Given the description of an element on the screen output the (x, y) to click on. 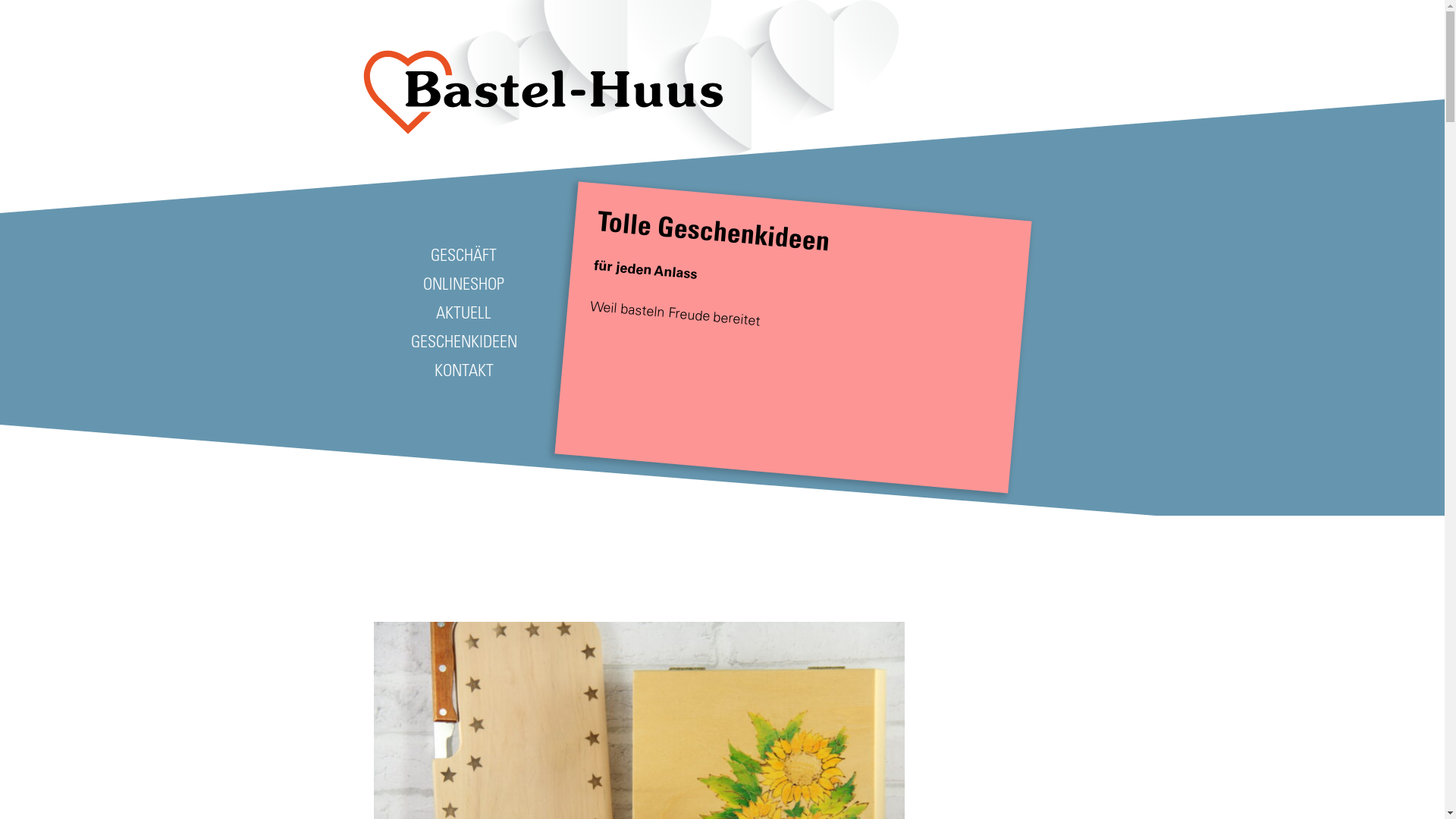
ONLINESHOP Element type: text (463, 283)
AKTUELL Element type: text (463, 312)
KONTAKT Element type: text (463, 369)
GESCHENKIDEEN Element type: text (463, 341)
